Given the description of an element on the screen output the (x, y) to click on. 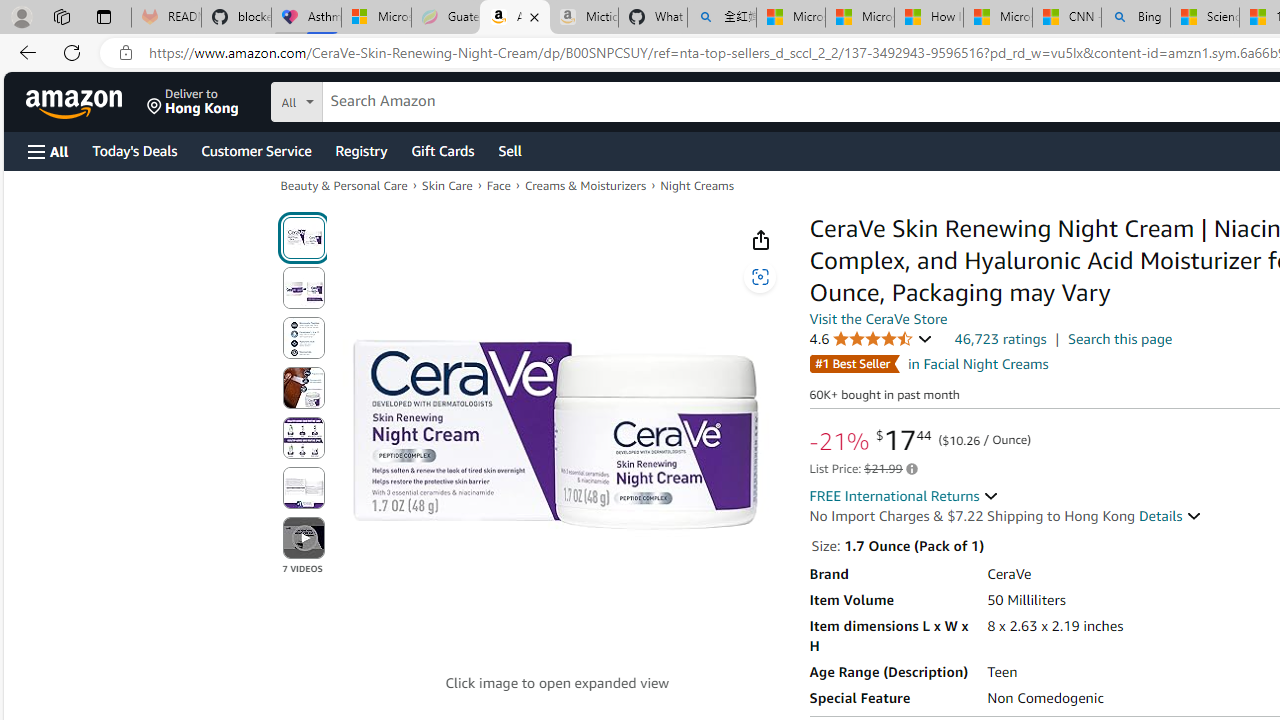
Face (498, 184)
Beauty & Personal Care (344, 184)
Details  (1170, 516)
CNN - MSN (1066, 17)
Registry (360, 150)
Search this page (1119, 339)
4.6 4.6 out of 5 stars (870, 339)
Gift Cards (442, 150)
Skin Care (447, 184)
Open Menu (48, 151)
Amazon (76, 101)
